Given the description of an element on the screen output the (x, y) to click on. 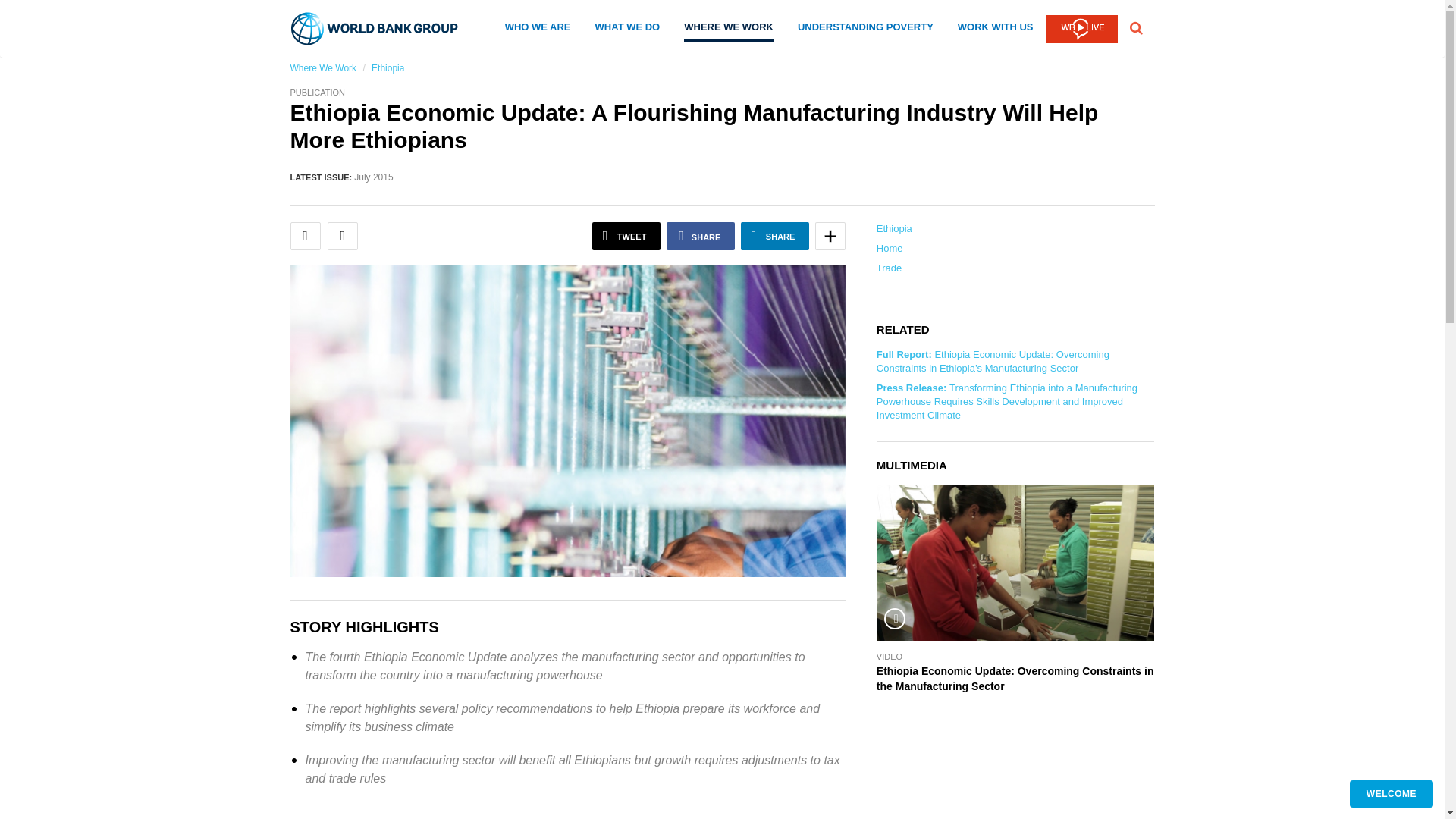
Share (775, 235)
Email (304, 235)
The World Bank Working for a World Free of Poverty (374, 28)
Share (830, 235)
Facebook (700, 235)
Tweet (626, 235)
WHAT WE DO (628, 30)
Print (342, 235)
WHO WE ARE (537, 30)
